Given the description of an element on the screen output the (x, y) to click on. 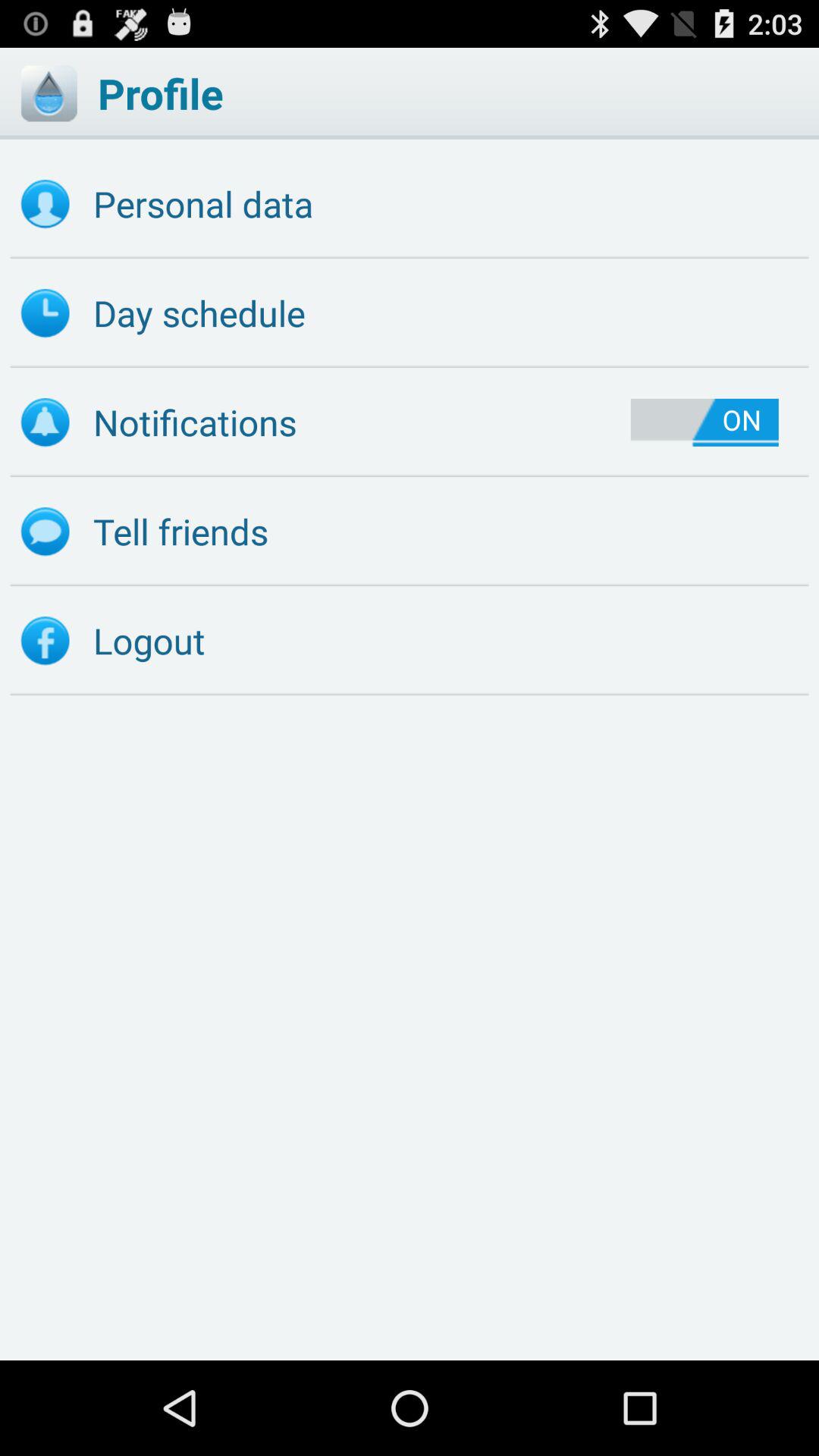
tap item below day schedule icon (704, 422)
